Given the description of an element on the screen output the (x, y) to click on. 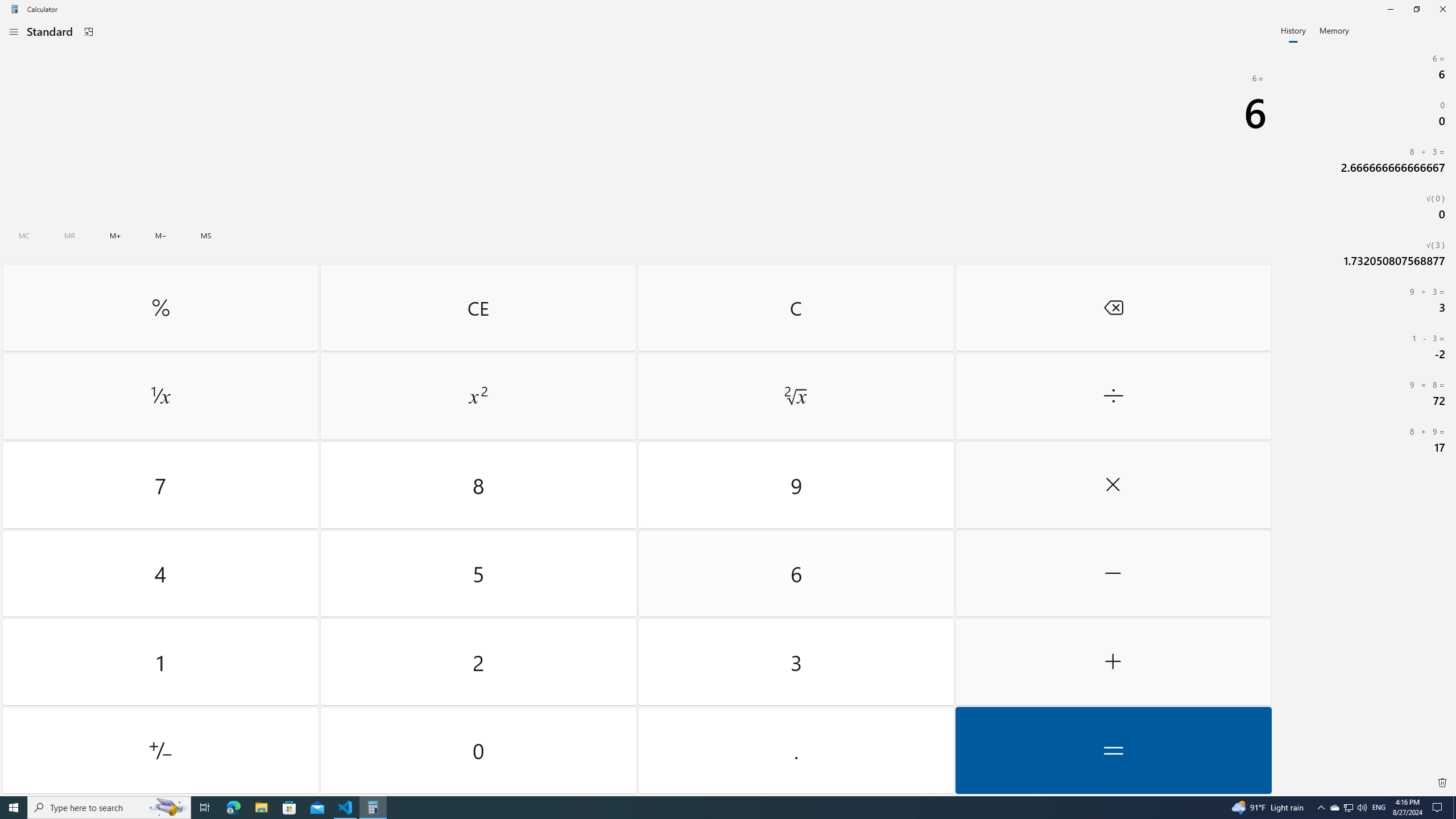
Five (478, 572)
0 0 (1364, 113)
Clear all history (1441, 782)
Restore Calculator (1416, 9)
Memory store (206, 235)
8 + 9= 17 (1364, 439)
Square (478, 396)
Eight (478, 485)
Square root (795, 396)
Three (795, 661)
